Given the description of an element on the screen output the (x, y) to click on. 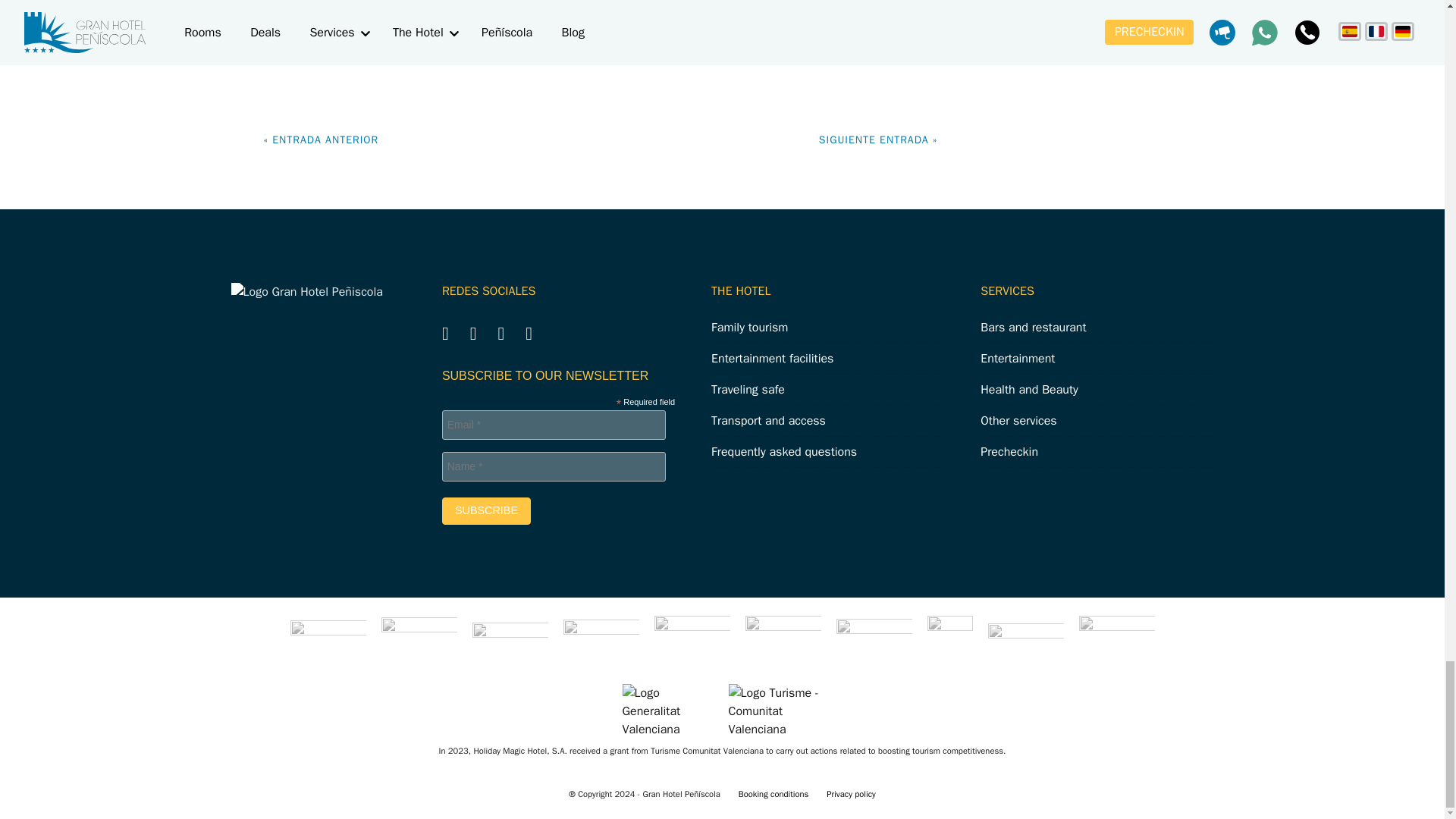
Subscribe (486, 510)
